Given the description of an element on the screen output the (x, y) to click on. 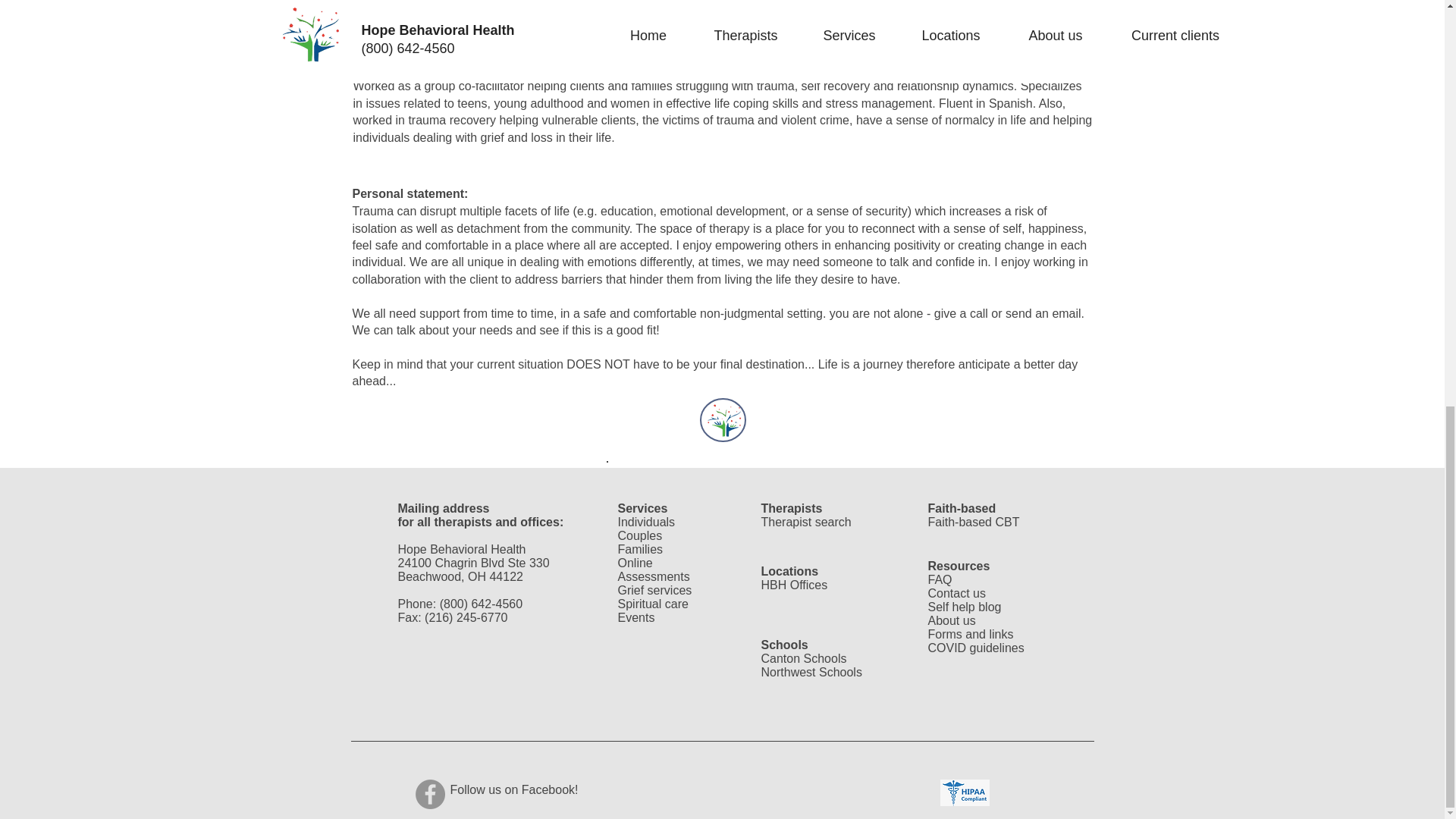
Families (639, 549)
Services (641, 508)
Individuals (646, 521)
Canton Schools (804, 658)
Online (634, 562)
Northwest Schools (811, 671)
Faith-based CBT (974, 521)
Grief services (654, 590)
Couples (639, 535)
HBH Offices (794, 584)
